Given the description of an element on the screen output the (x, y) to click on. 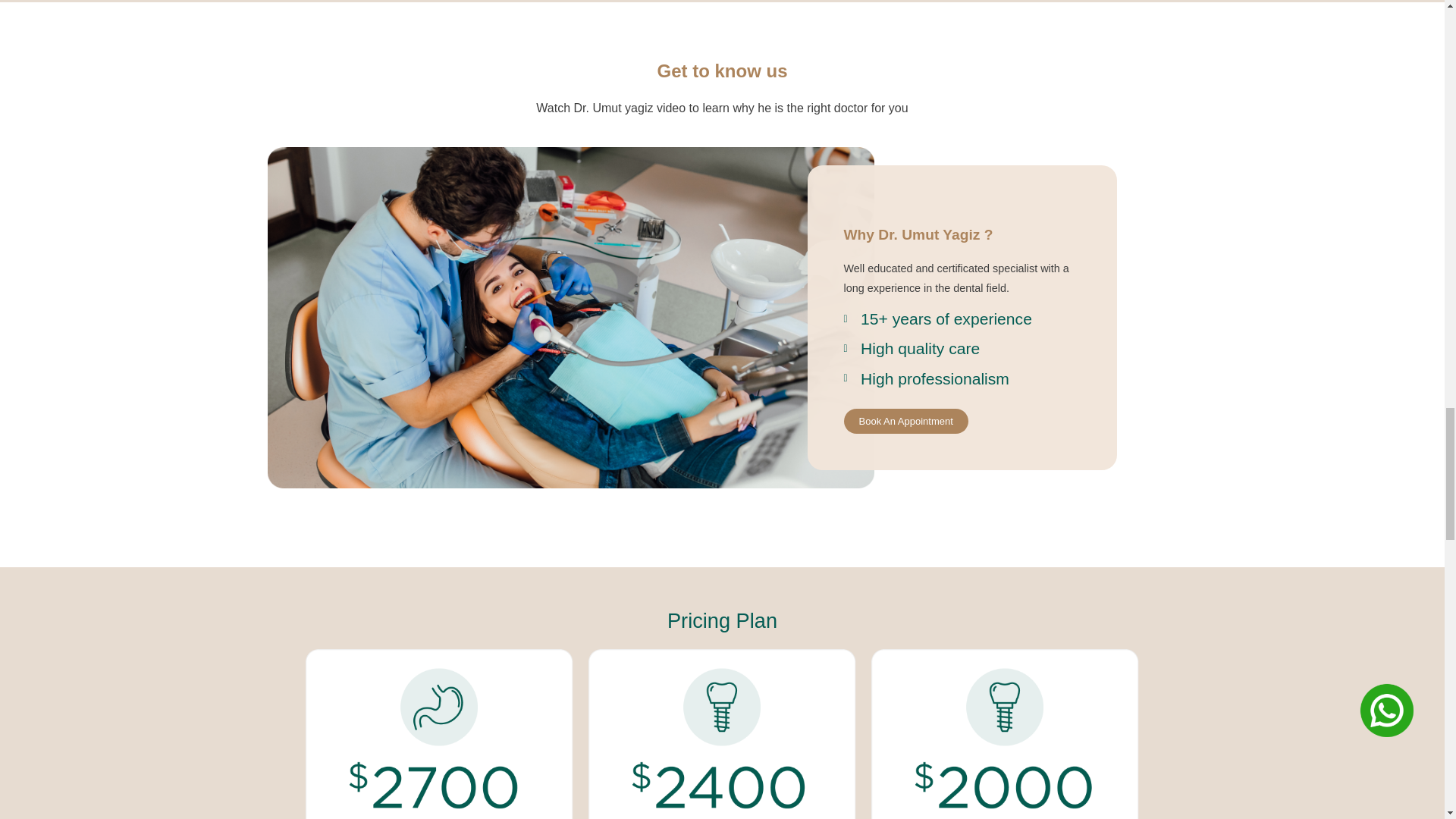
Book An Appointment (905, 421)
